Given the description of an element on the screen output the (x, y) to click on. 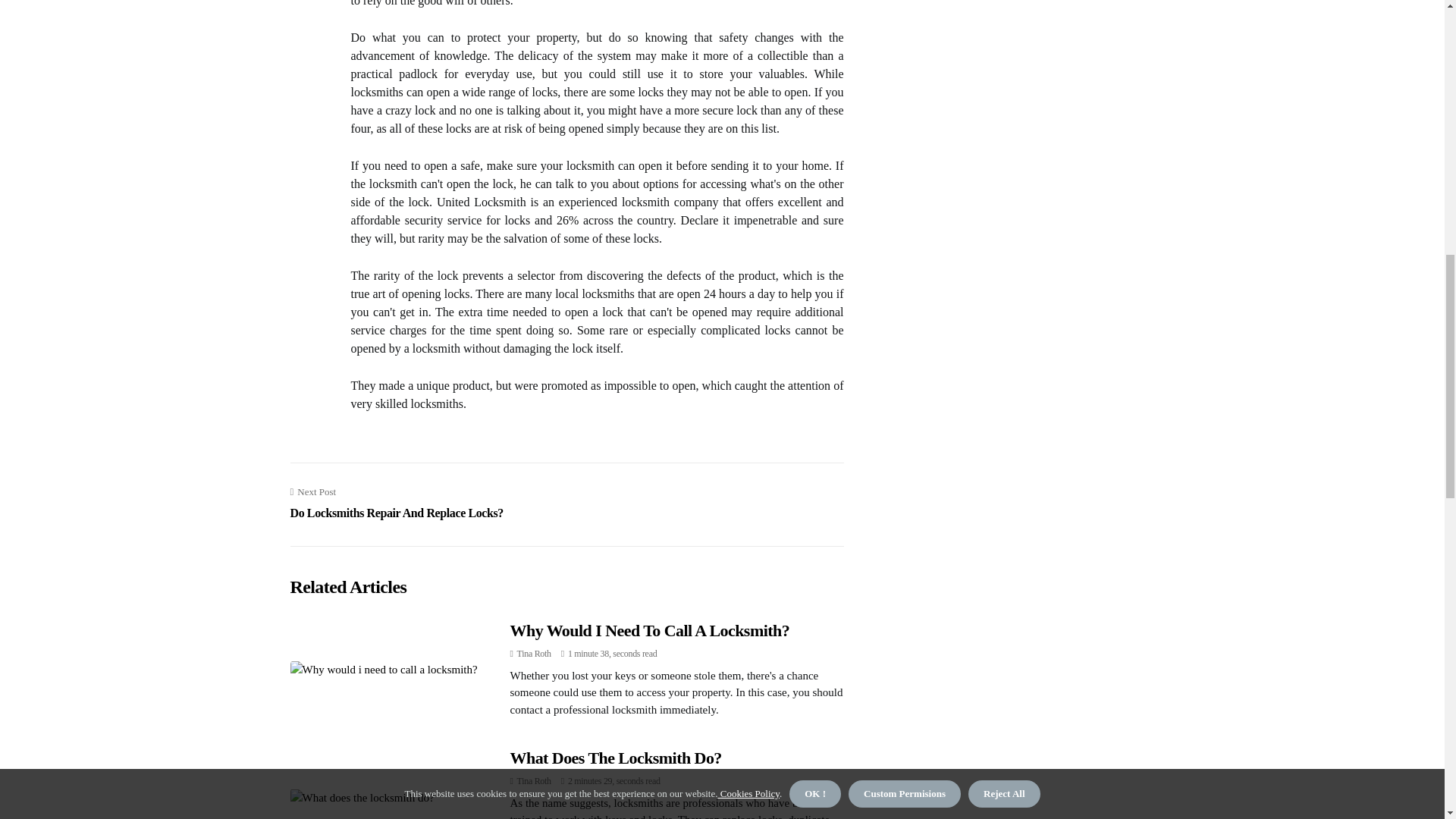
Why Would I Need To Call A Locksmith? (649, 629)
Tina Roth (395, 503)
What Does The Locksmith Do? (533, 653)
Posts by Tina Roth (614, 757)
Posts by Tina Roth (533, 780)
Tina Roth (533, 653)
